Given the description of an element on the screen output the (x, y) to click on. 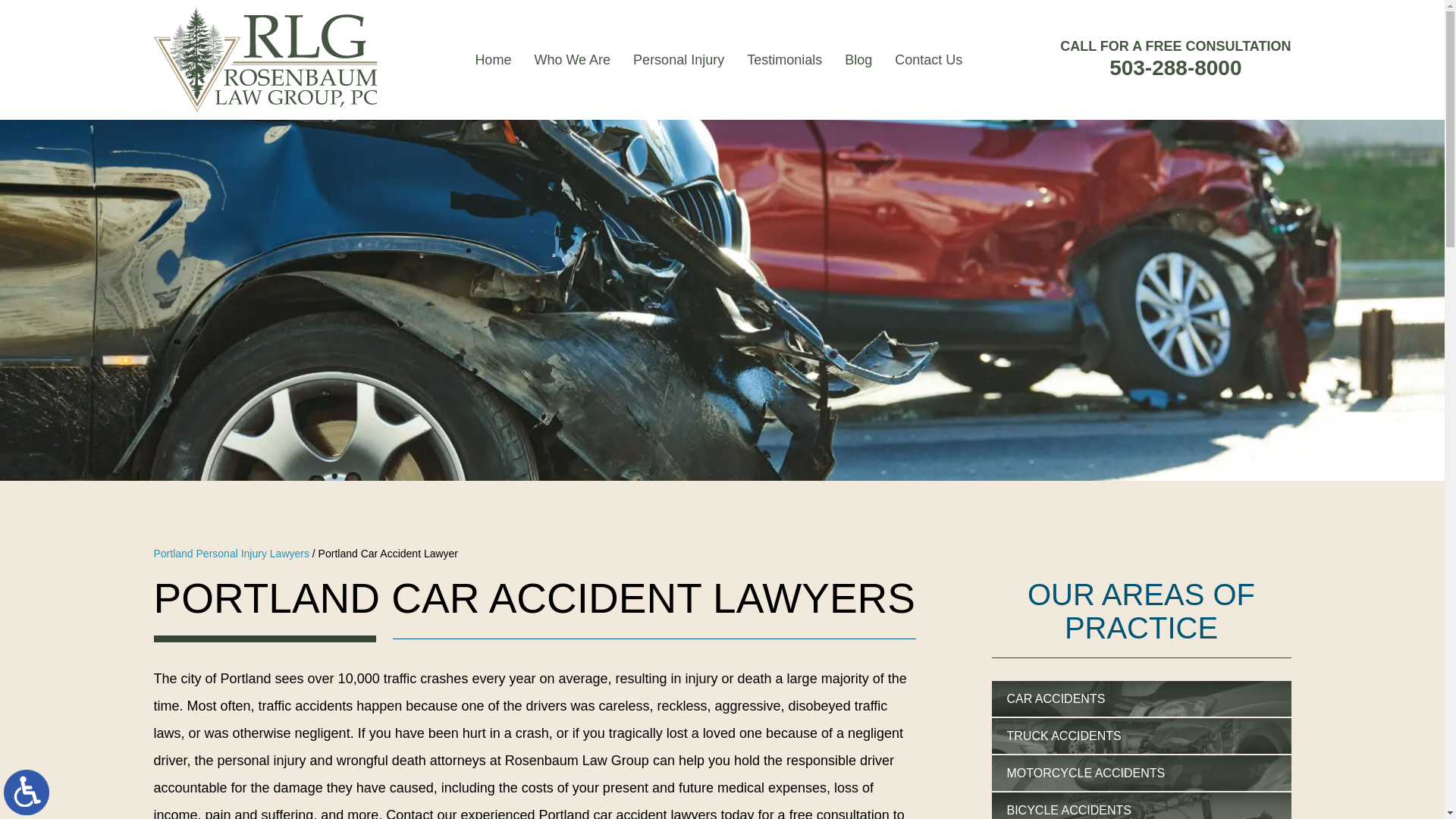
Home (492, 59)
503-288-8000 (1175, 67)
Switch to ADA Accessible Theme (26, 791)
Who We Are (571, 59)
Personal Injury (678, 59)
